Given the description of an element on the screen output the (x, y) to click on. 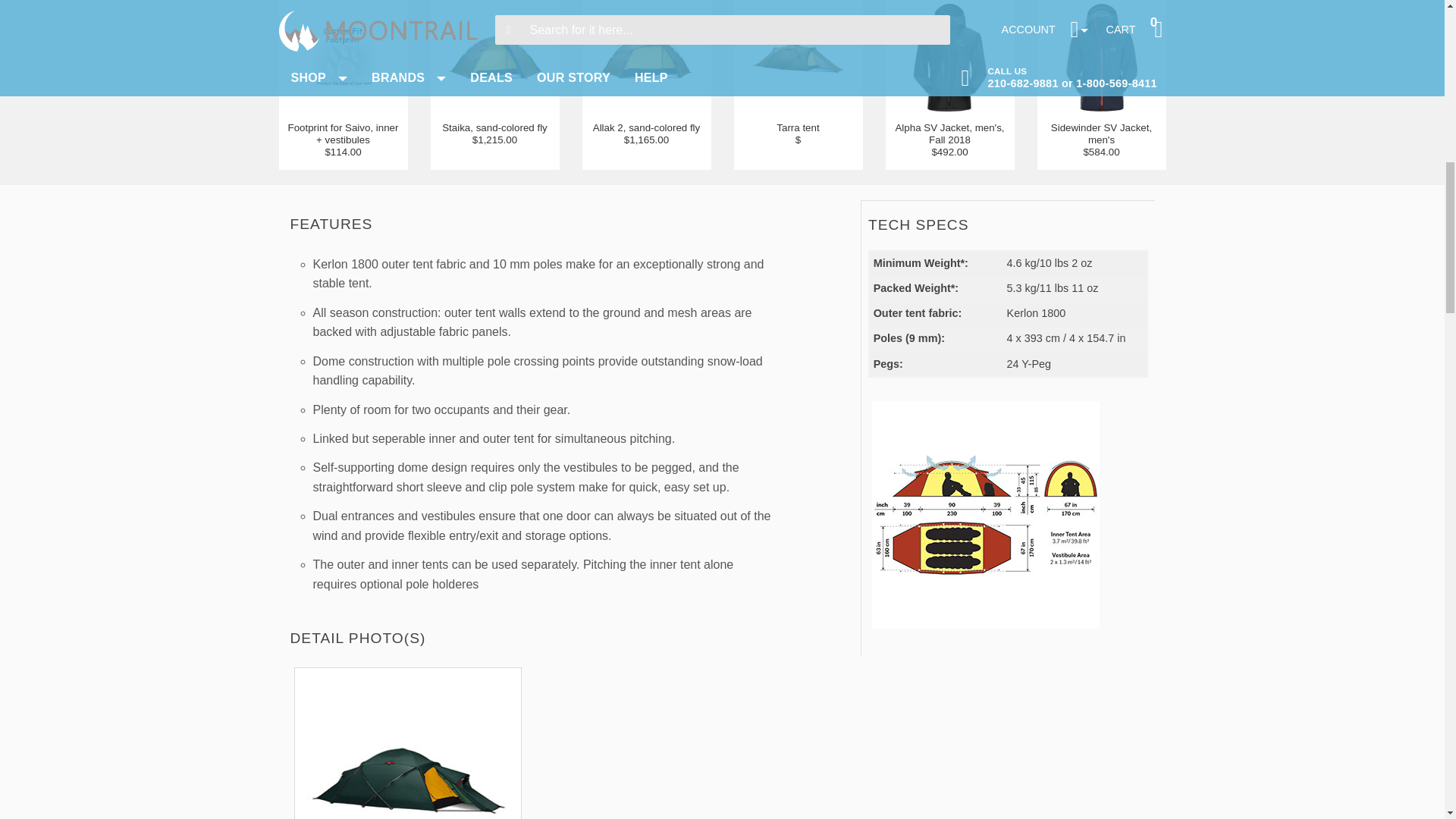
Arc'teryx Alpha SV Jacket, men's, Fall 2018 (950, 140)
Hilleberg Tarra tent (798, 134)
Hilleberg Allak 2, sand-colored fly (646, 134)
Hilleberg Staika, sand-colored fly  (494, 134)
Arc'teryx Sidewinder SV Jacket, men's (1101, 140)
